Given the description of an element on the screen output the (x, y) to click on. 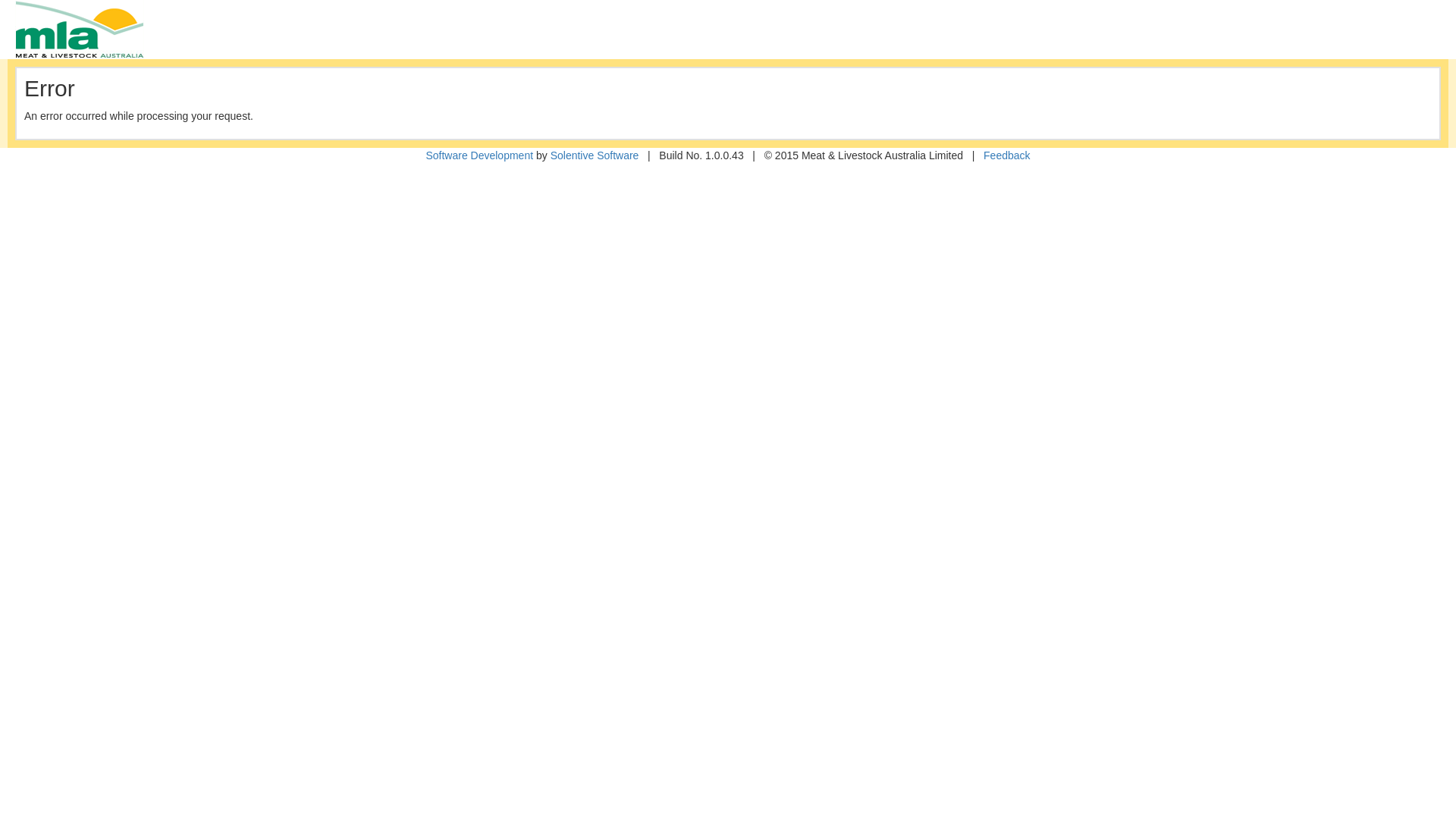
Software Development Element type: text (479, 155)
Solentive Software Element type: text (594, 155)
Feedback Element type: text (1006, 155)
